Given the description of an element on the screen output the (x, y) to click on. 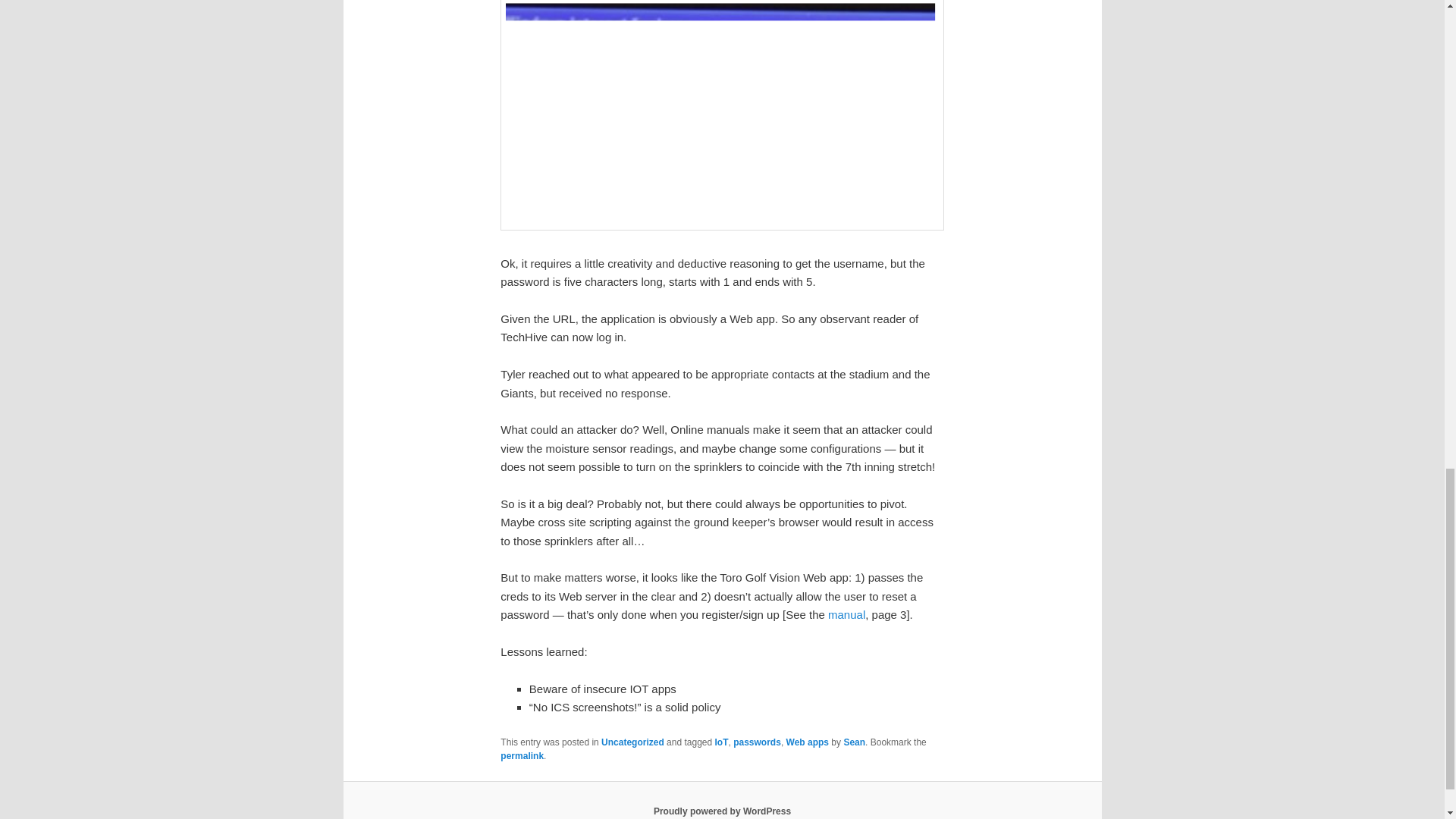
manual (846, 614)
Proudly powered by WordPress (721, 810)
Semantic Personal Publishing Platform (721, 810)
Sean (853, 742)
permalink (521, 756)
passwords (756, 742)
IoT (721, 742)
Uncategorized (632, 742)
Web apps (807, 742)
Permalink to World Series field sensor security (521, 756)
